Given the description of an element on the screen output the (x, y) to click on. 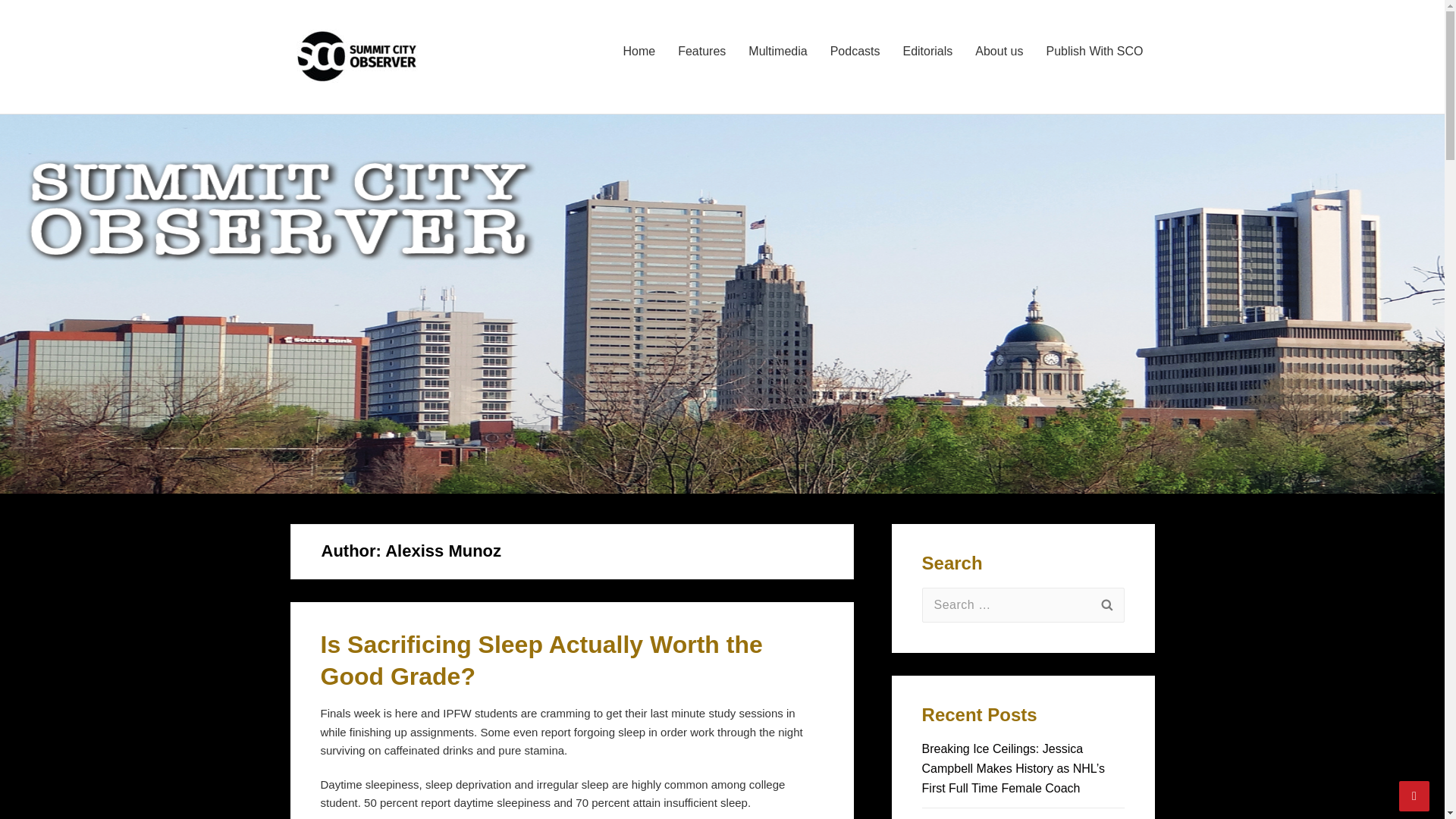
Multimedia (777, 51)
Search (1106, 605)
Publish With SCO (1093, 51)
Home (638, 51)
Is Sacrificing Sleep Actually Worth the Good Grade? (540, 660)
About us (998, 51)
Podcasts (854, 51)
Editorials (927, 51)
Search (1106, 605)
Search (1106, 605)
Features (701, 51)
